Given the description of an element on the screen output the (x, y) to click on. 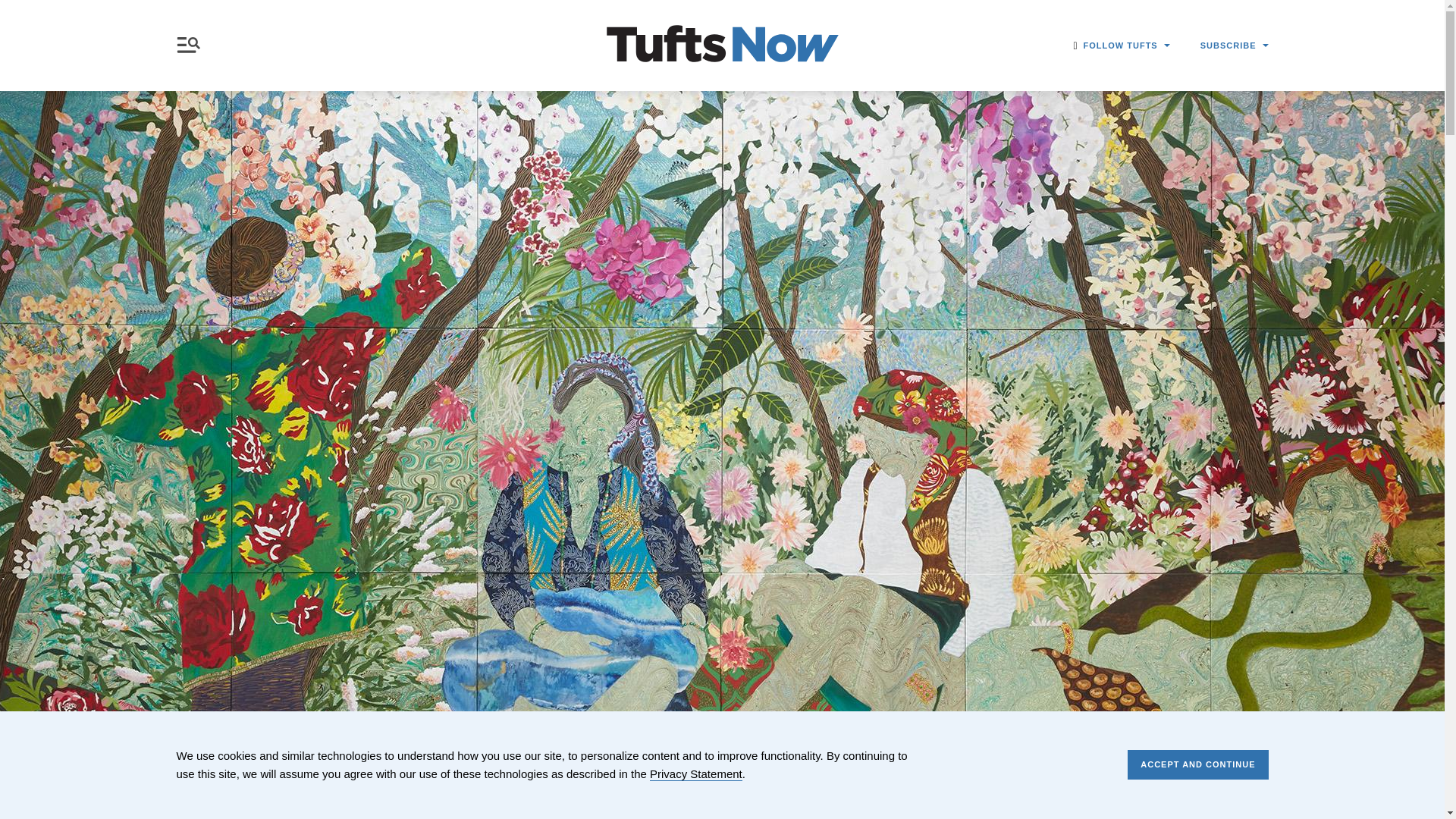
FOLLOW TUFTS (1126, 45)
Menu (191, 45)
Privacy Statement (695, 774)
SUBSCRIBE (1233, 45)
Apply (1066, 140)
Subscribe (1103, 179)
SKIP TO MAIN CONTENT (13, 9)
ACCEPT AND CONTINUE (1197, 764)
